Given the description of an element on the screen output the (x, y) to click on. 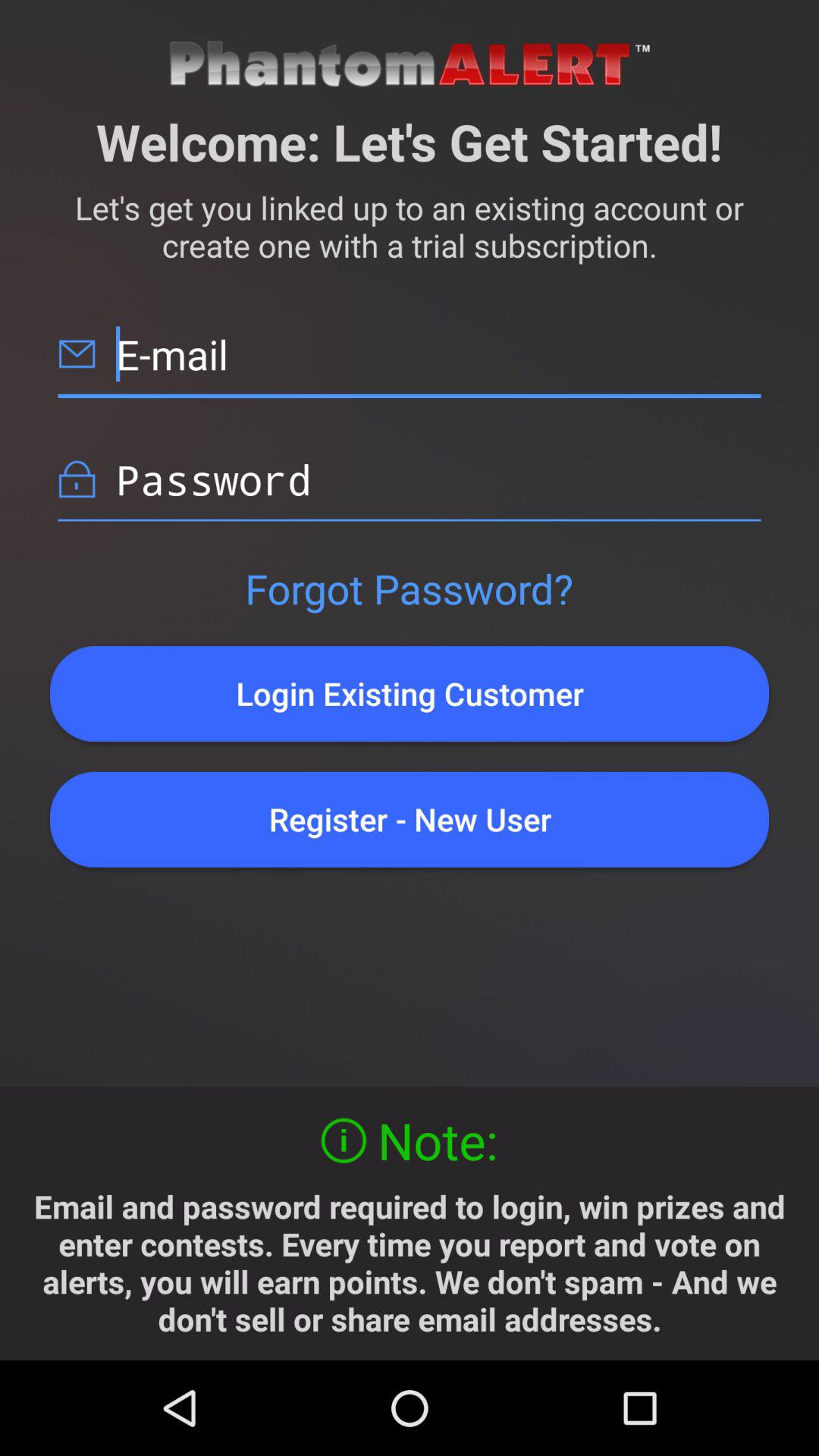
open item below the forgot password? (409, 693)
